Given the description of an element on the screen output the (x, y) to click on. 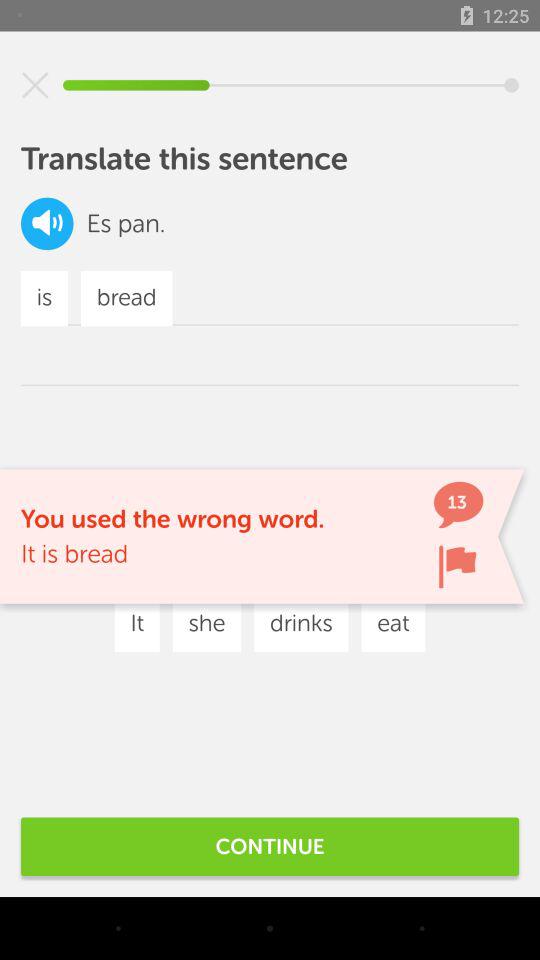
flag this entry (457, 566)
